Given the description of an element on the screen output the (x, y) to click on. 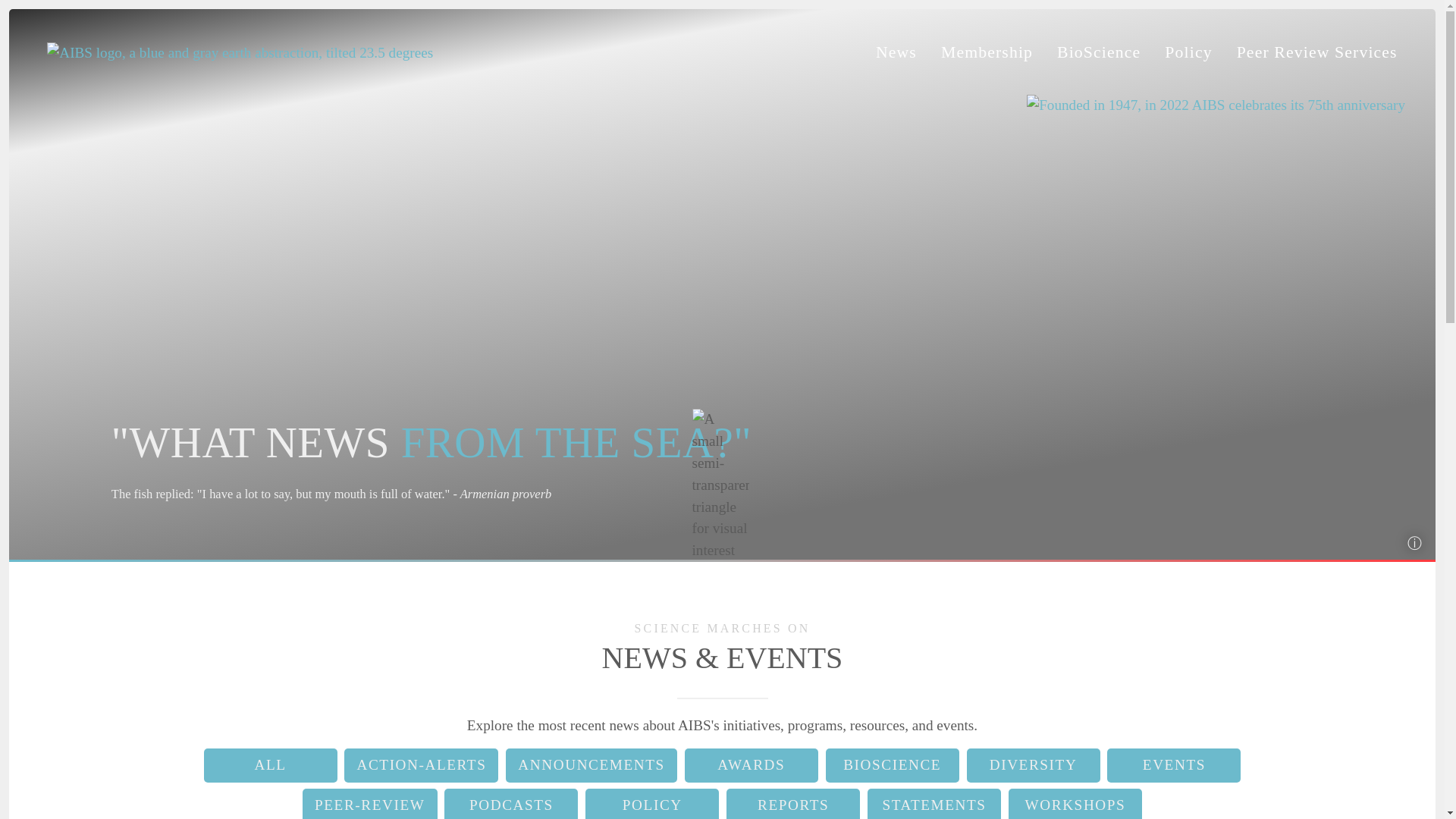
ACTION-ALERTS (420, 765)
WORKSHOPS (1075, 803)
EVENTS (1173, 765)
PEER-REVIEW (370, 803)
ALL (270, 765)
STATEMENTS (934, 803)
ANNOUNCEMENTS (591, 765)
BIOSCIENCE (892, 765)
BioScience (1098, 52)
POLICY (652, 803)
News (896, 52)
Policy (1187, 52)
REPORTS (793, 803)
DIVERSITY (1033, 765)
PODCASTS (511, 803)
